Given the description of an element on the screen output the (x, y) to click on. 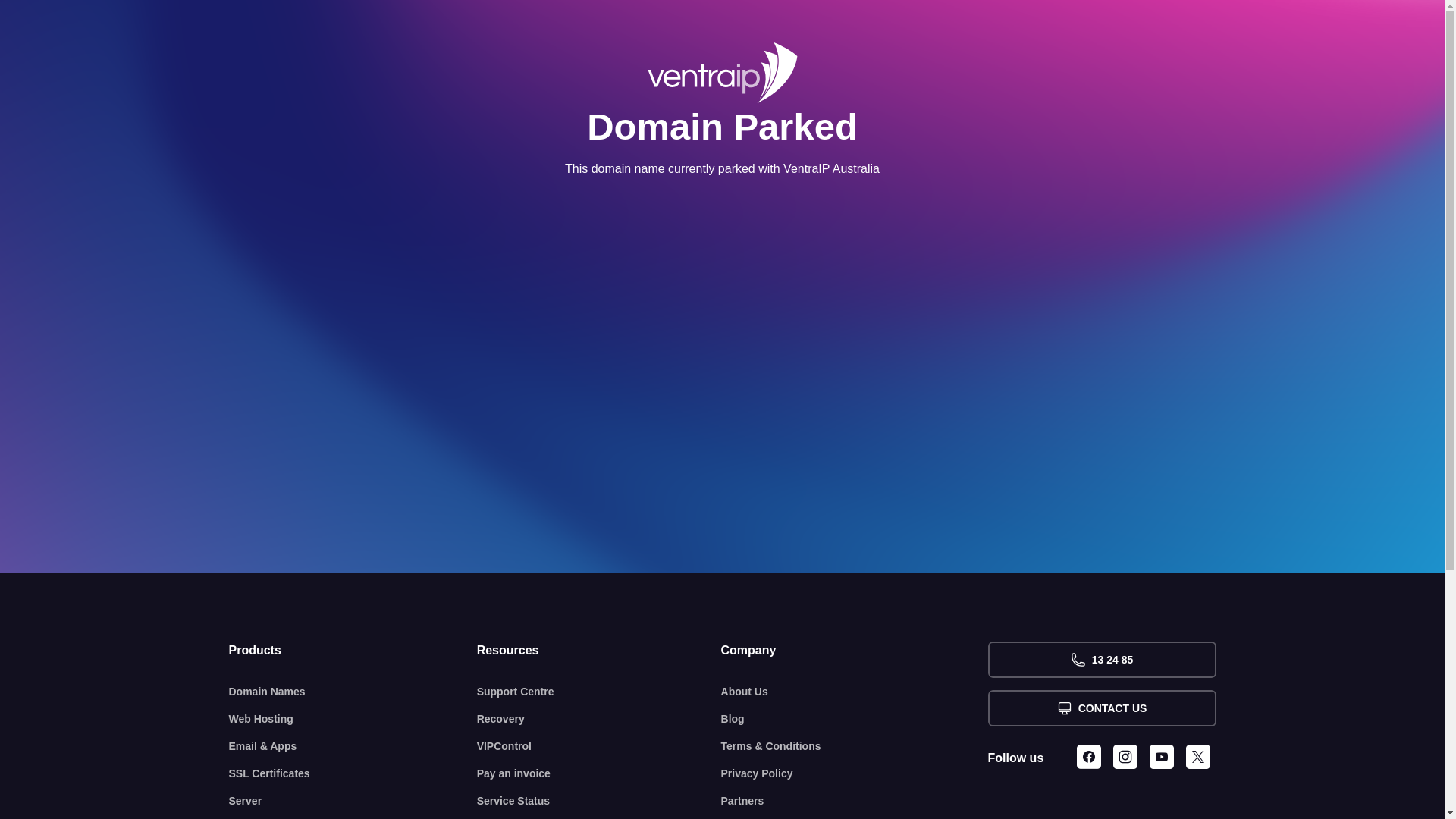
Recovery Element type: text (598, 718)
Terms & Conditions Element type: text (854, 745)
SSL Certificates Element type: text (352, 773)
Pay an invoice Element type: text (598, 773)
VIPControl Element type: text (598, 745)
Partners Element type: text (854, 800)
Server Element type: text (352, 800)
13 24 85 Element type: text (1101, 659)
Domain Names Element type: text (352, 691)
CONTACT US Element type: text (1101, 708)
Web Hosting Element type: text (352, 718)
About Us Element type: text (854, 691)
Privacy Policy Element type: text (854, 773)
Blog Element type: text (854, 718)
Email & Apps Element type: text (352, 745)
Service Status Element type: text (598, 800)
Support Centre Element type: text (598, 691)
